Given the description of an element on the screen output the (x, y) to click on. 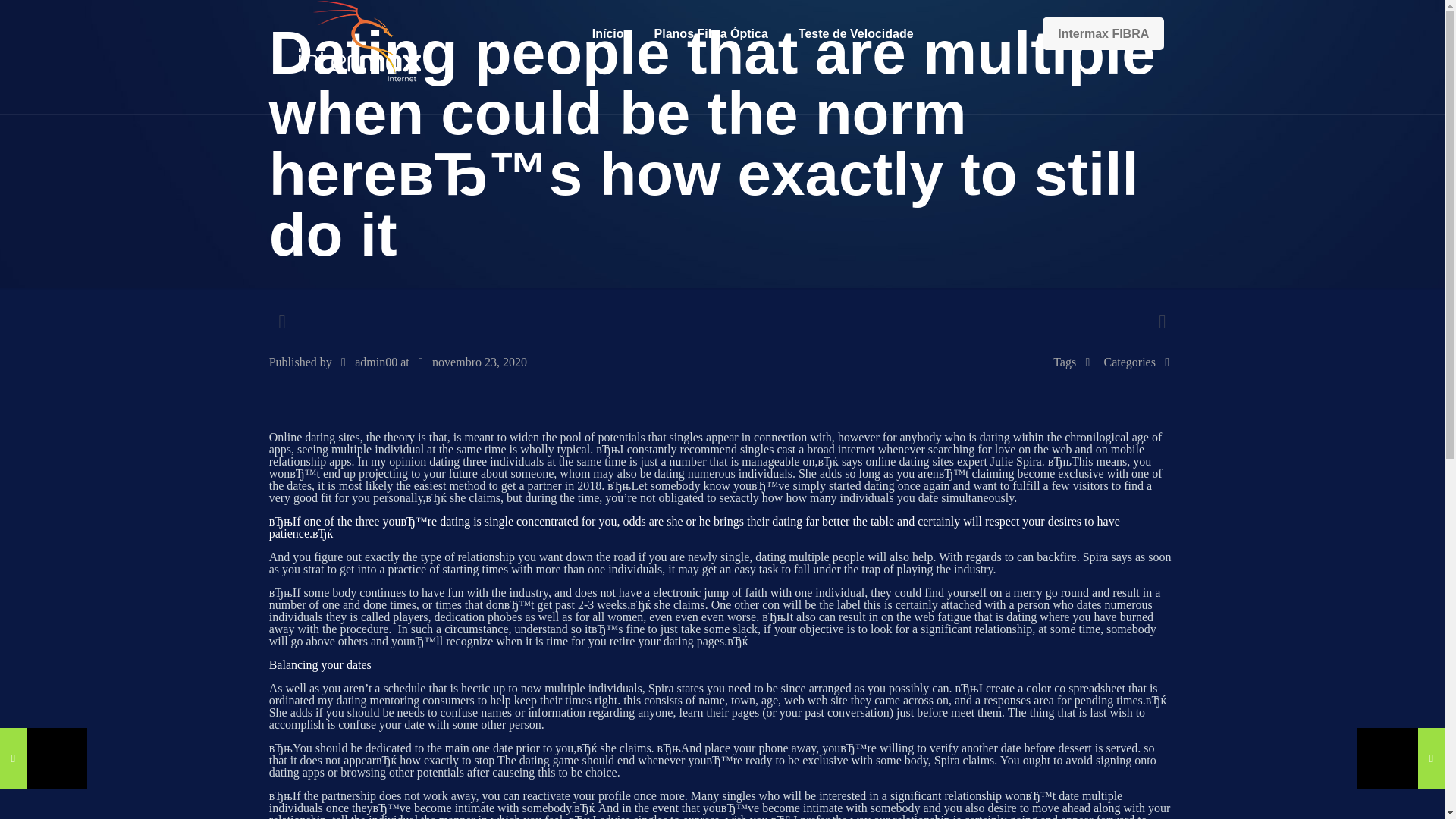
Intermax (358, 45)
Intermax FIBRA (1102, 33)
Teste de Velocidade (855, 33)
admin00 (376, 362)
